Given the description of an element on the screen output the (x, y) to click on. 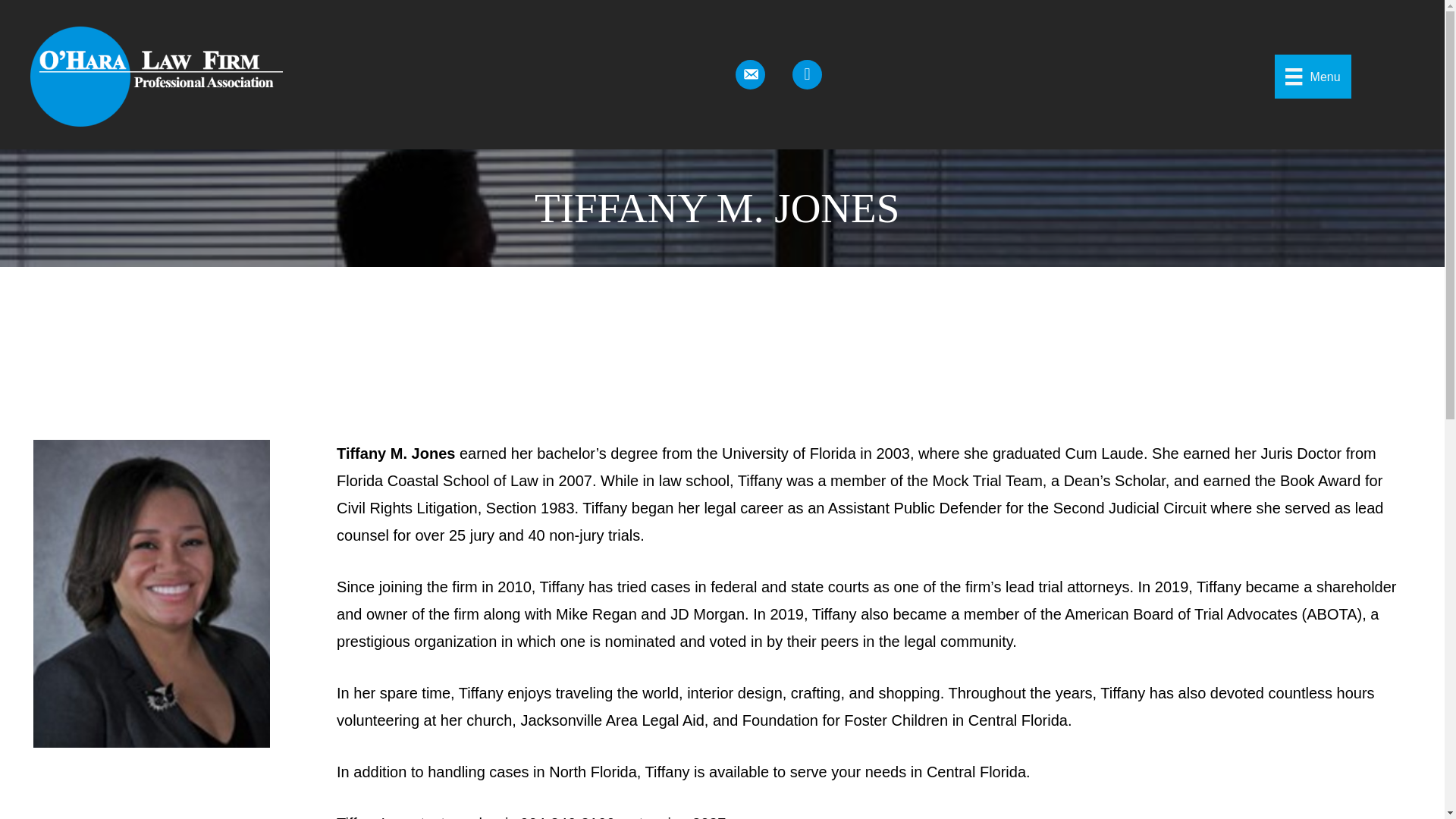
Menu (1313, 76)
logo1 (156, 76)
